Given the description of an element on the screen output the (x, y) to click on. 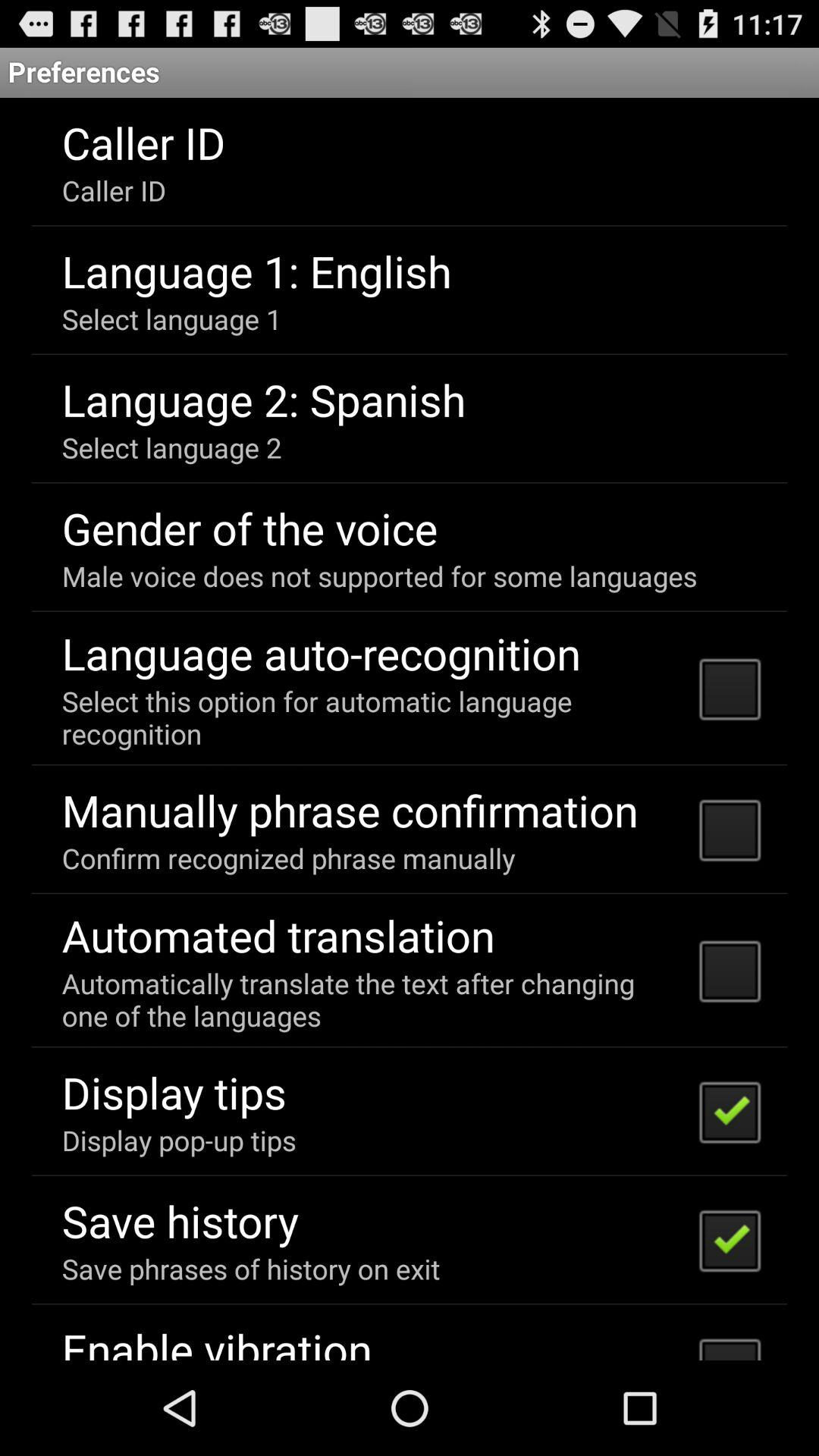
click icon above save history icon (178, 1140)
